Given the description of an element on the screen output the (x, y) to click on. 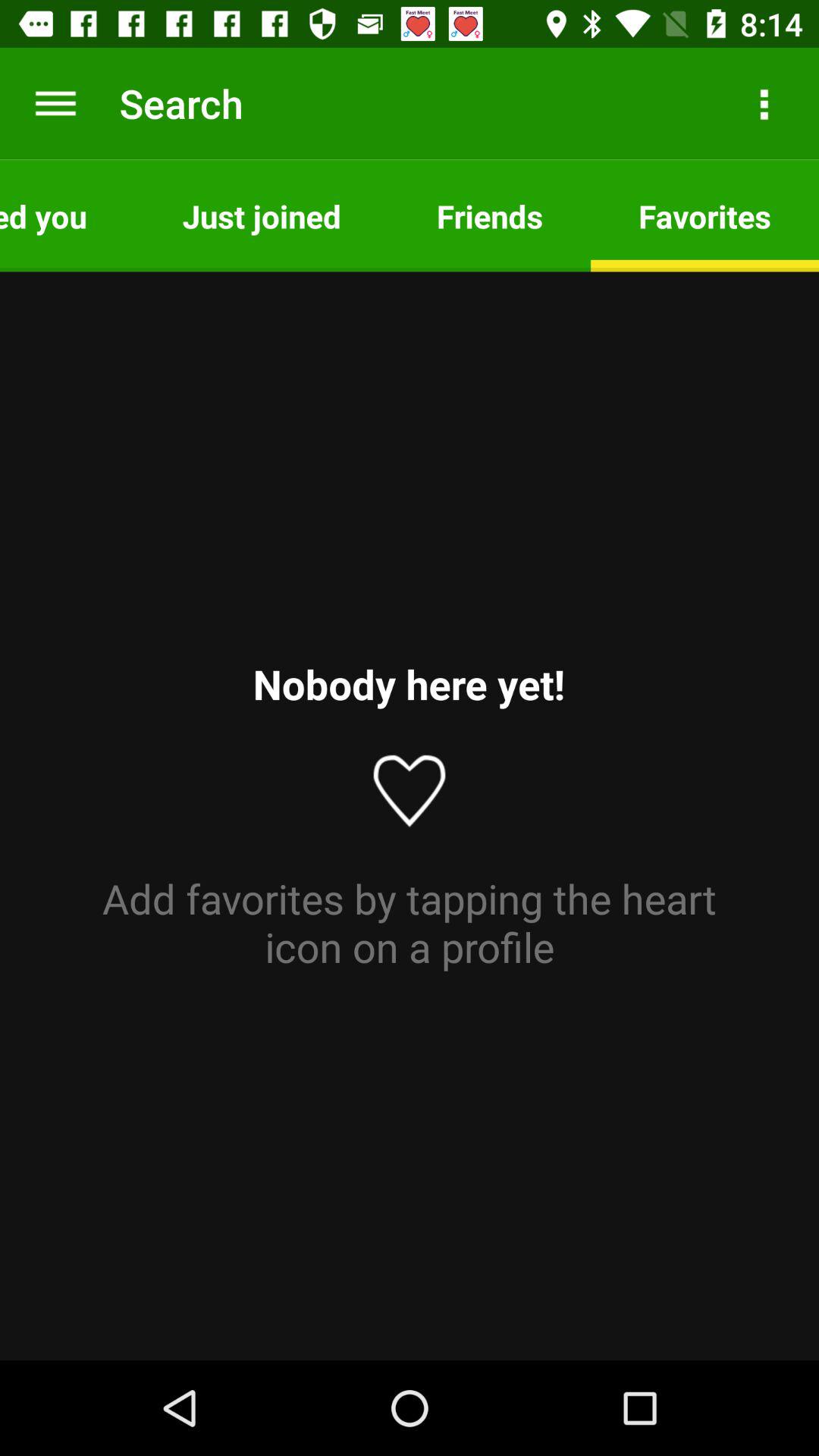
choose the app next to the friends (261, 215)
